Given the description of an element on the screen output the (x, y) to click on. 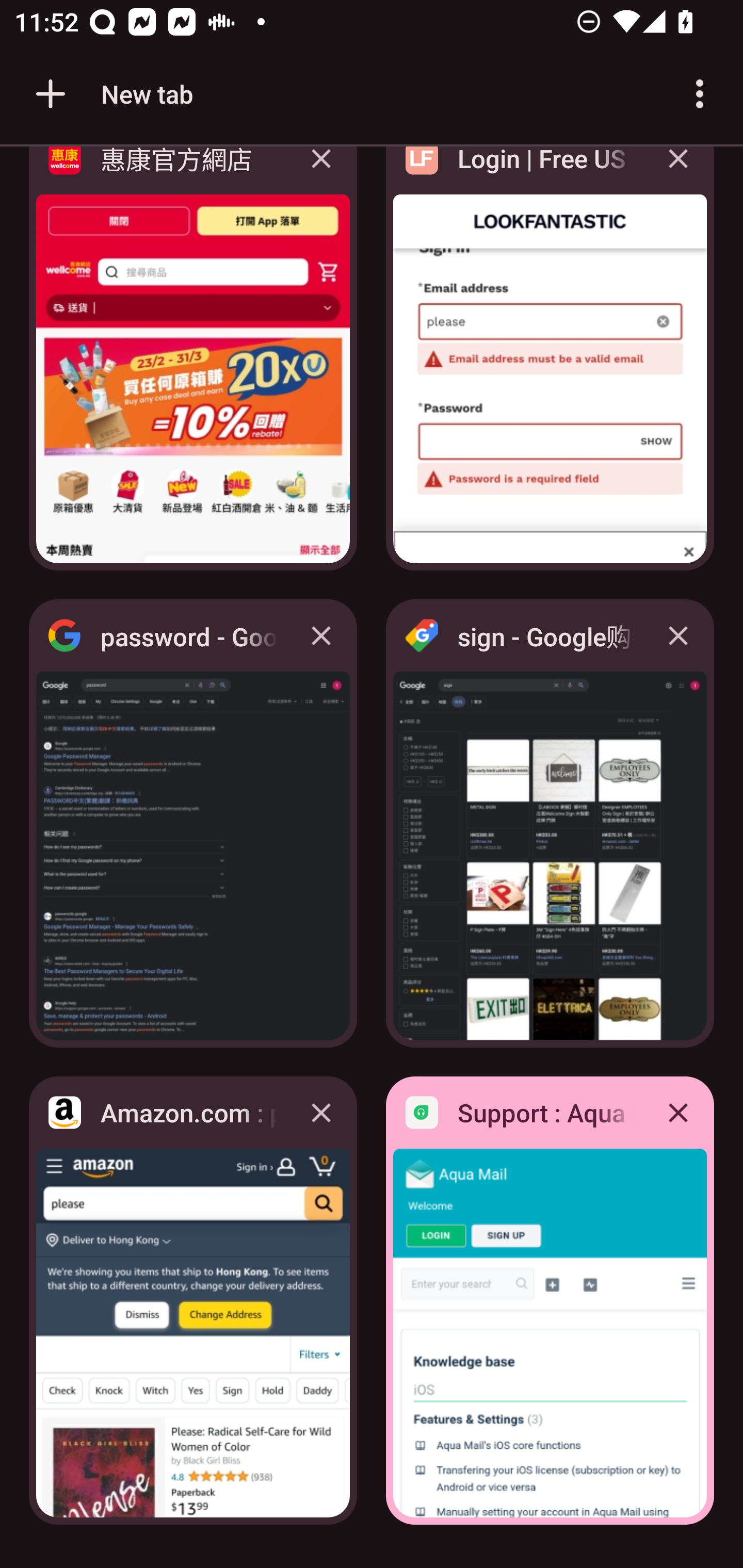
New tab (111, 93)
Customize and control Google Chrome (699, 93)
惠康官方網店 惠康官方網店, tab Close 惠康官方網店 tab (192, 364)
Close 惠康官方網店 tab (320, 173)
Close Login | Free US Shipping | lookfantastic tab (677, 173)
Close password - Google 搜索 tab (320, 635)
Close sign - Google购物 tab (677, 635)
Close Amazon.com : please tab (320, 1112)
Close Support : Aqua Mail tab (677, 1112)
